Given the description of an element on the screen output the (x, y) to click on. 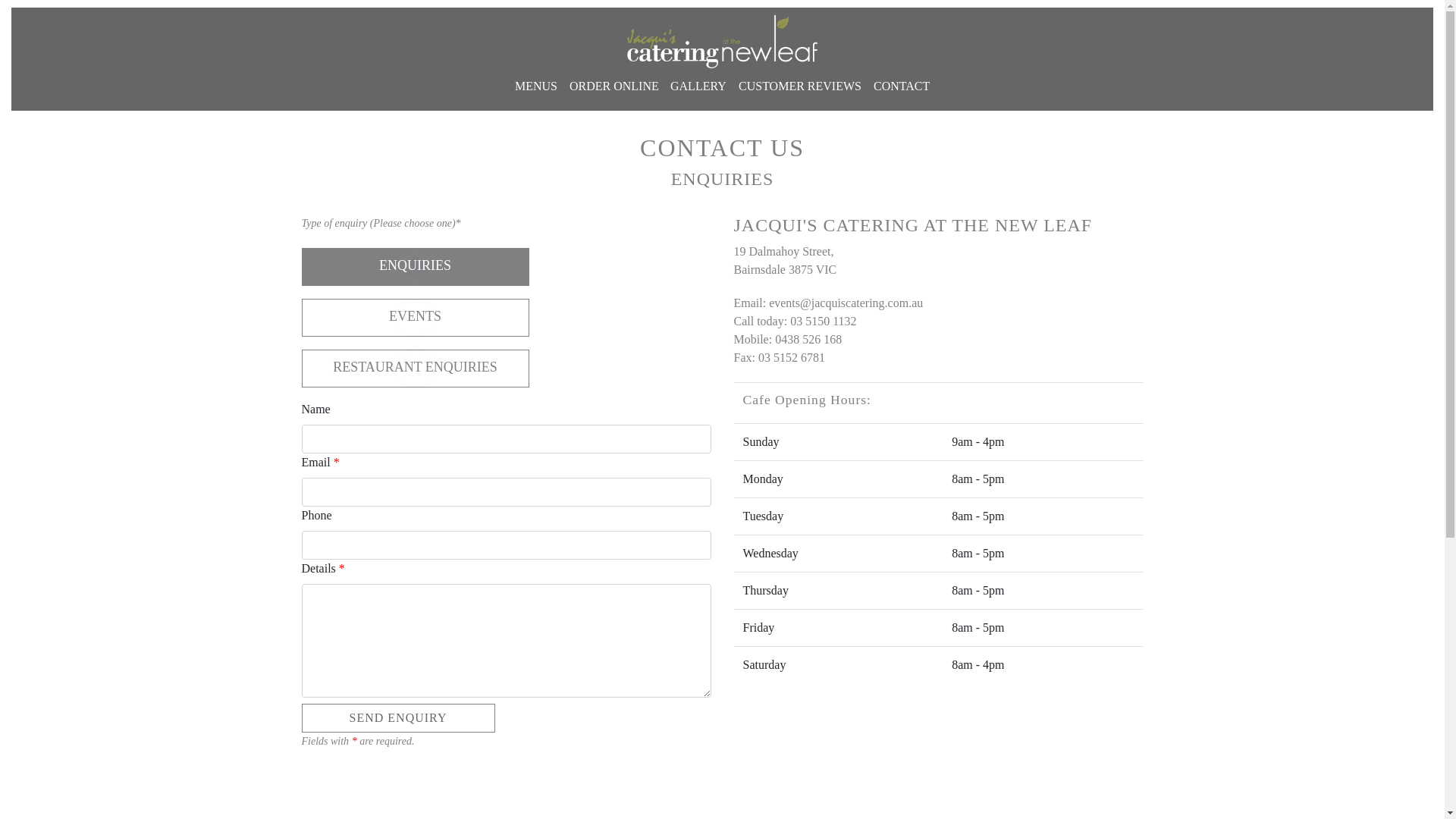
MENUS Element type: text (535, 86)
CUSTOMER REVIEWS Element type: text (799, 86)
Send Enquiry Element type: text (398, 717)
GALLERY Element type: text (698, 86)
ORDER ONLINE Element type: text (614, 86)
CONTACT Element type: text (901, 86)
